Given the description of an element on the screen output the (x, y) to click on. 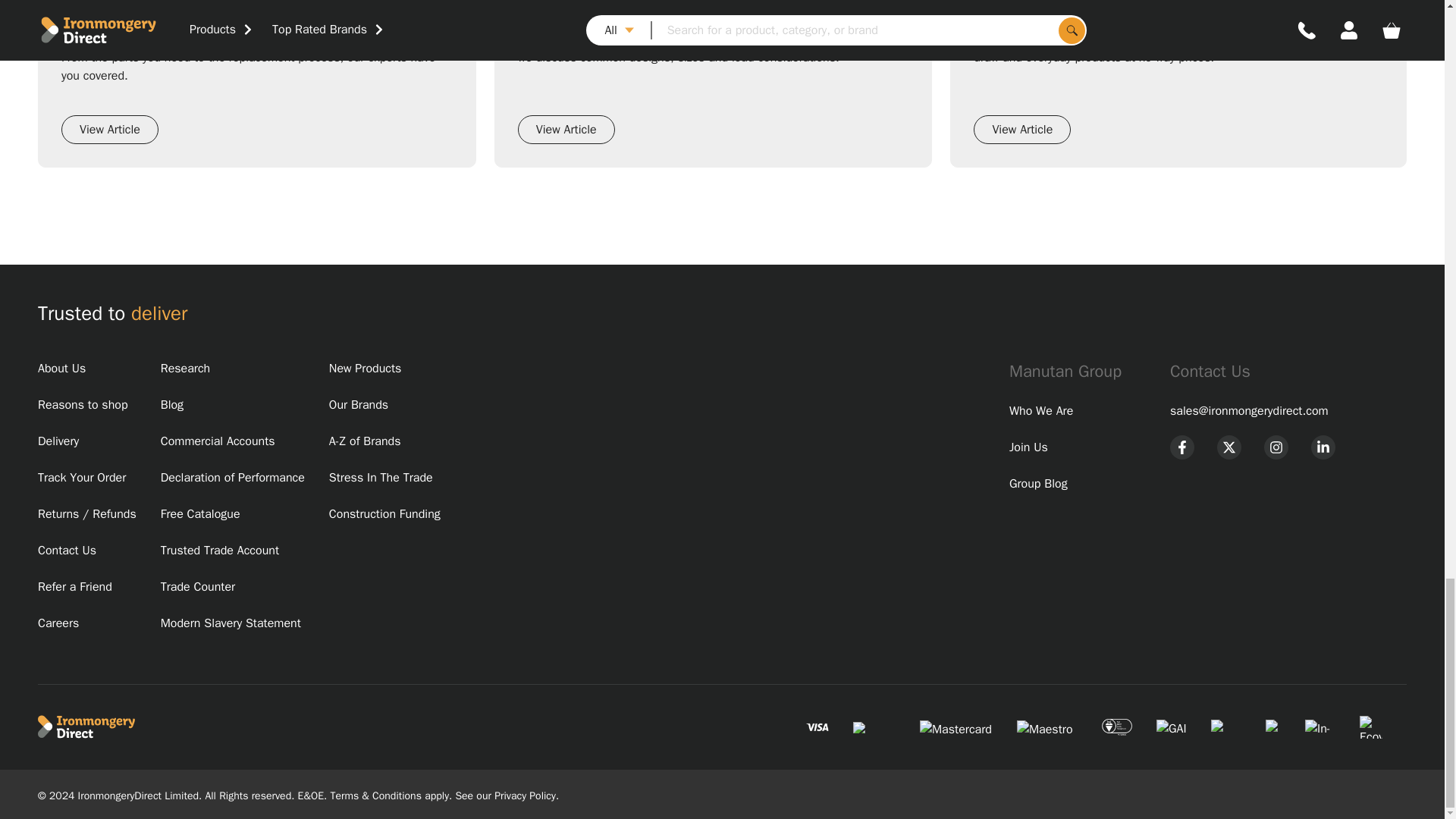
Visit us on LinkedIn (1323, 446)
Like us on Facebook (1181, 446)
Follow us on X (1229, 446)
Visit us on Instagram (1275, 446)
VISA (817, 726)
